Given the description of an element on the screen output the (x, y) to click on. 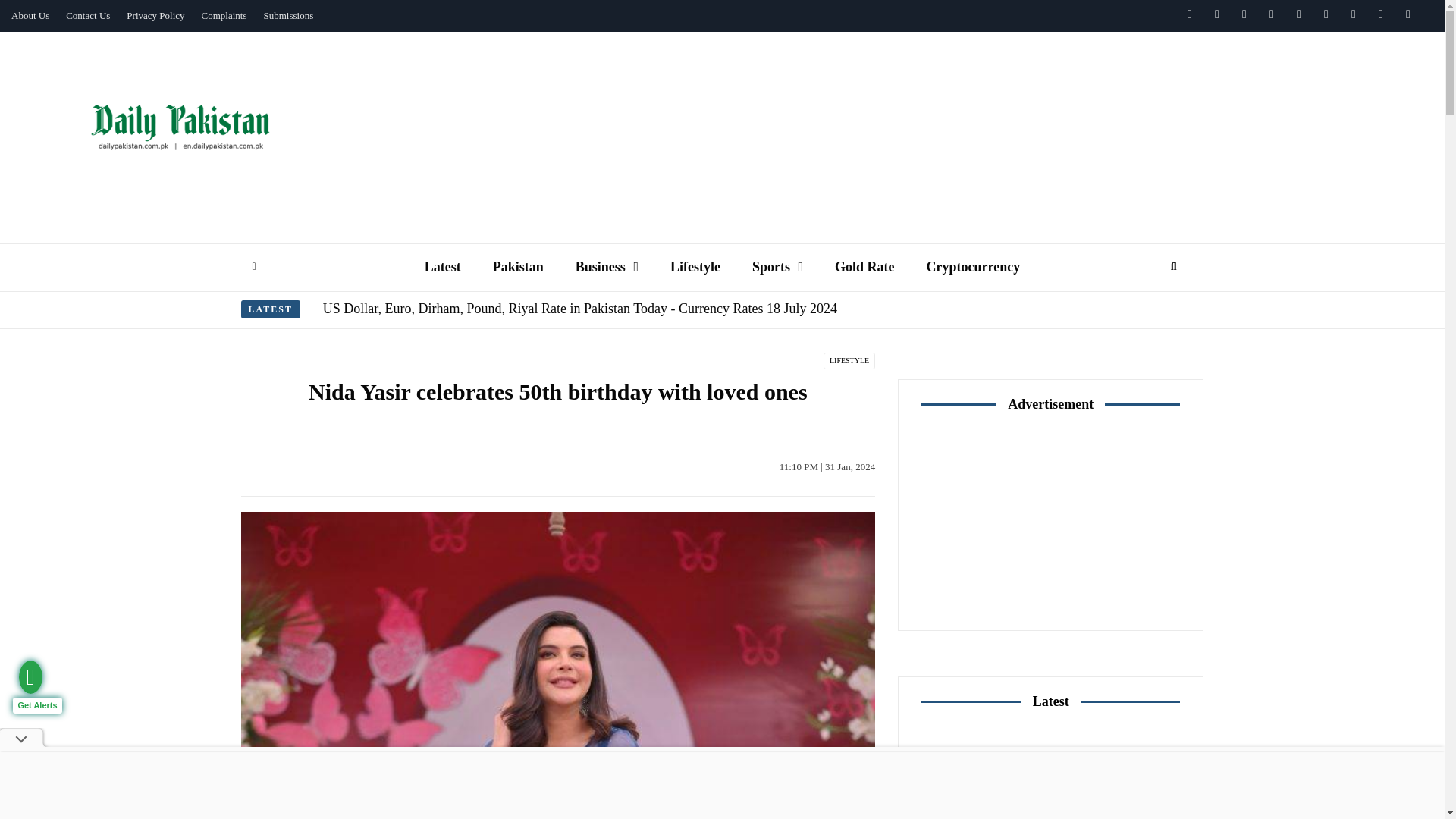
Latest (443, 266)
About Us (30, 15)
Submissions (288, 15)
Lifestyle (694, 266)
Sports (777, 266)
Complaints (224, 15)
Business (606, 266)
Contact Us (87, 15)
3rd party ad content (903, 73)
Pakistan (518, 266)
3rd party ad content (1050, 520)
Privacy Policy (155, 15)
